Given the description of an element on the screen output the (x, y) to click on. 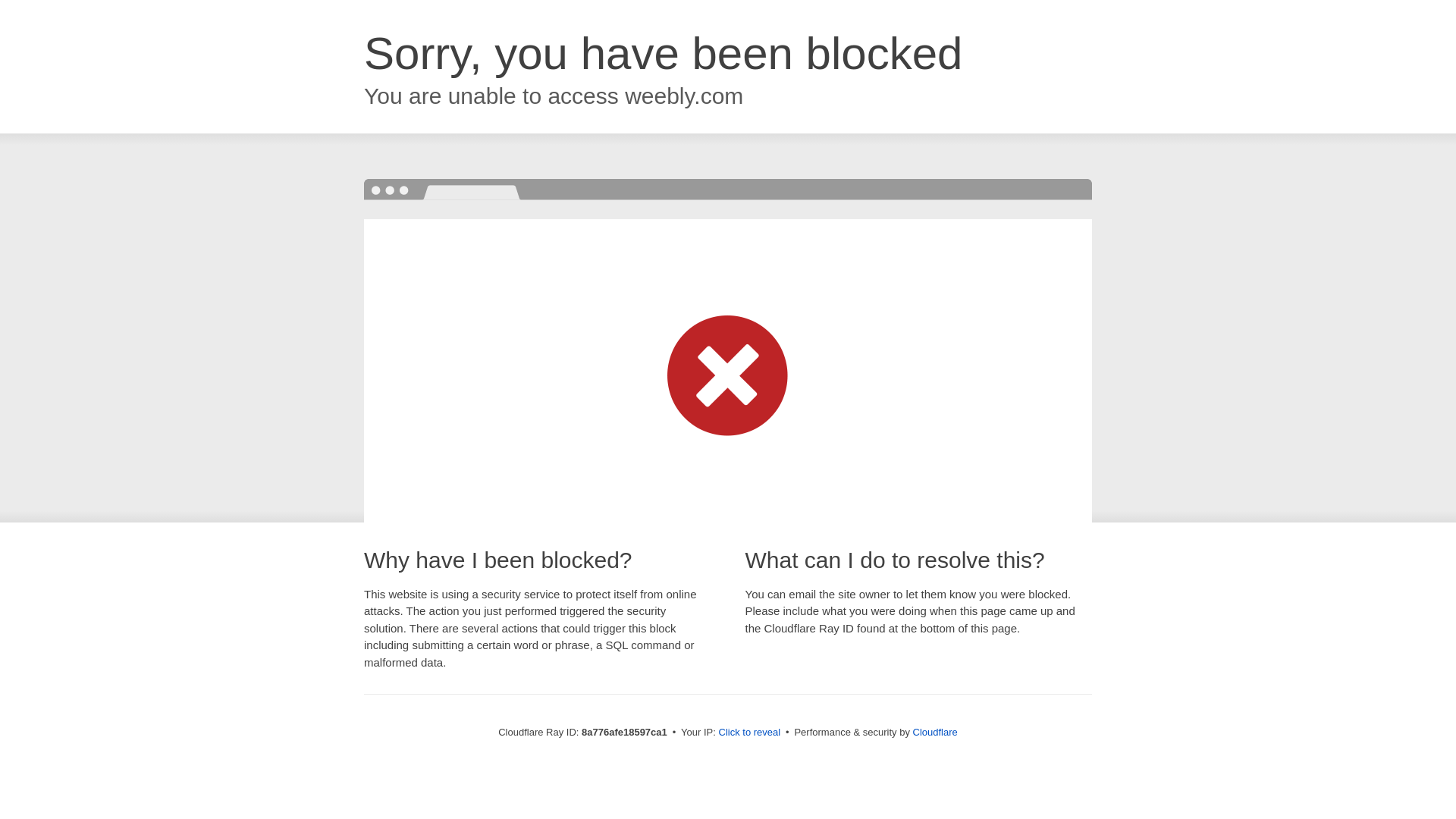
Cloudflare (935, 731)
Click to reveal (749, 732)
